Given the description of an element on the screen output the (x, y) to click on. 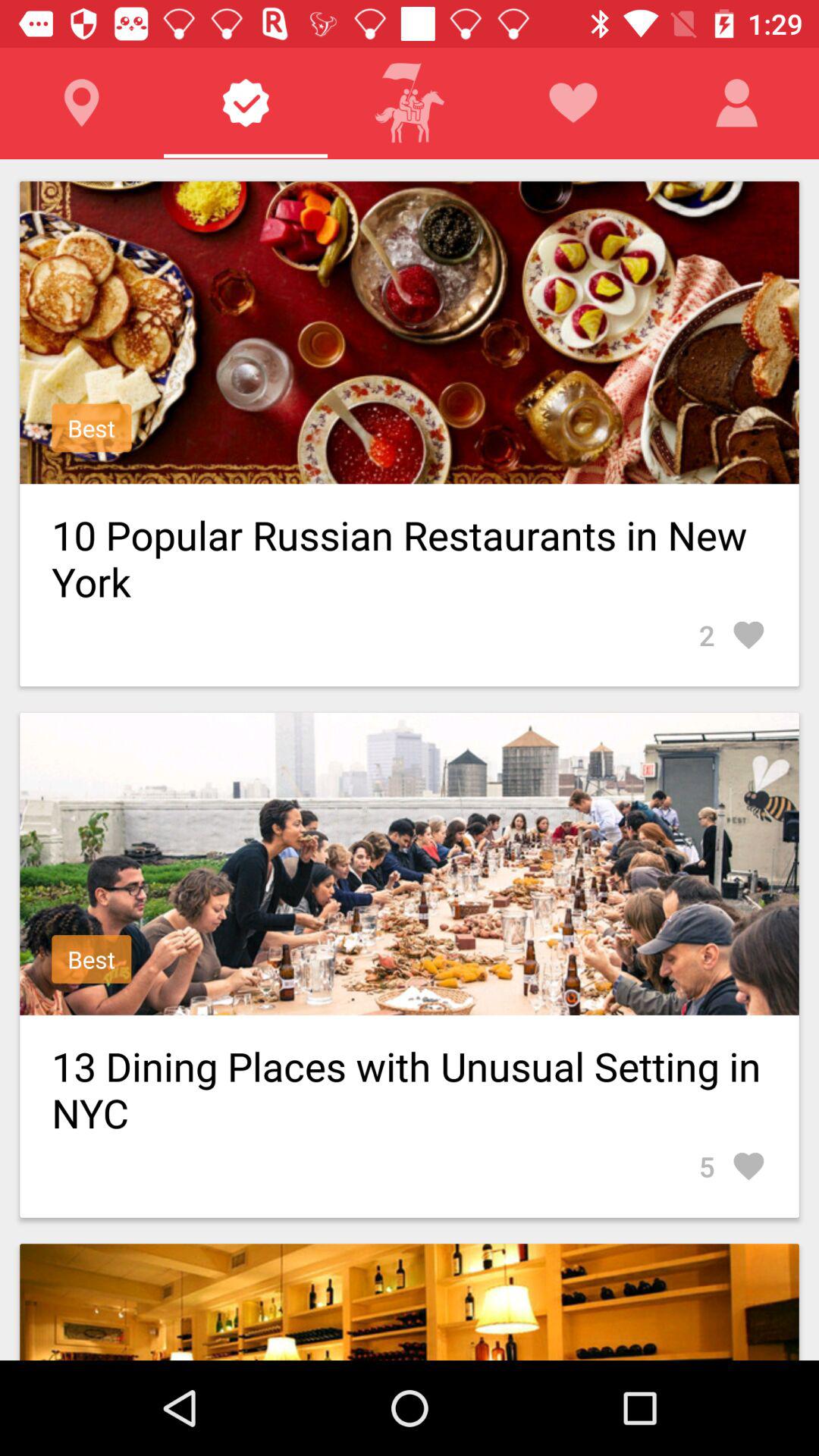
click the 2 item (732, 635)
